Given the description of an element on the screen output the (x, y) to click on. 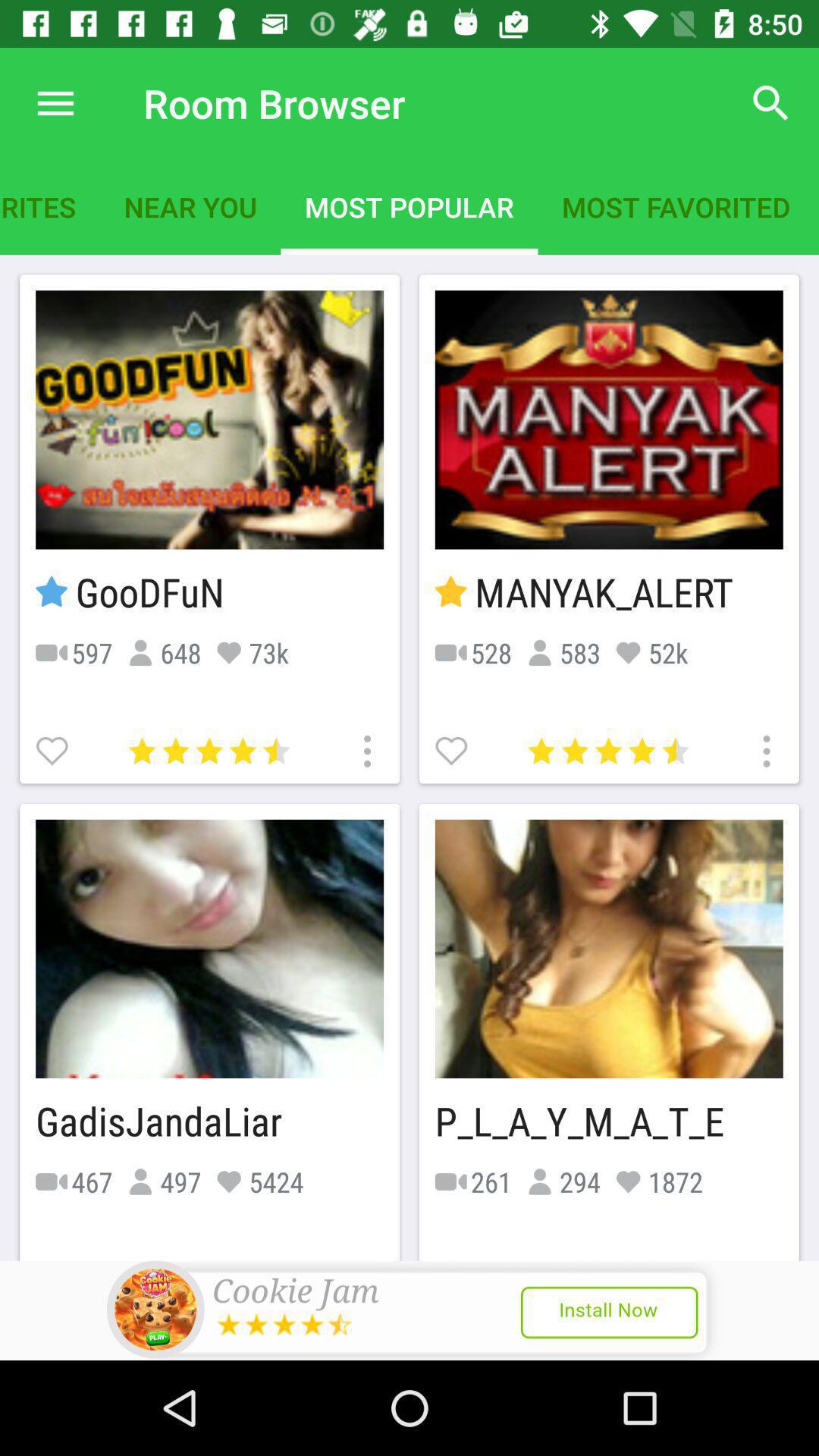
save as favorite (453, 749)
